Given the description of an element on the screen output the (x, y) to click on. 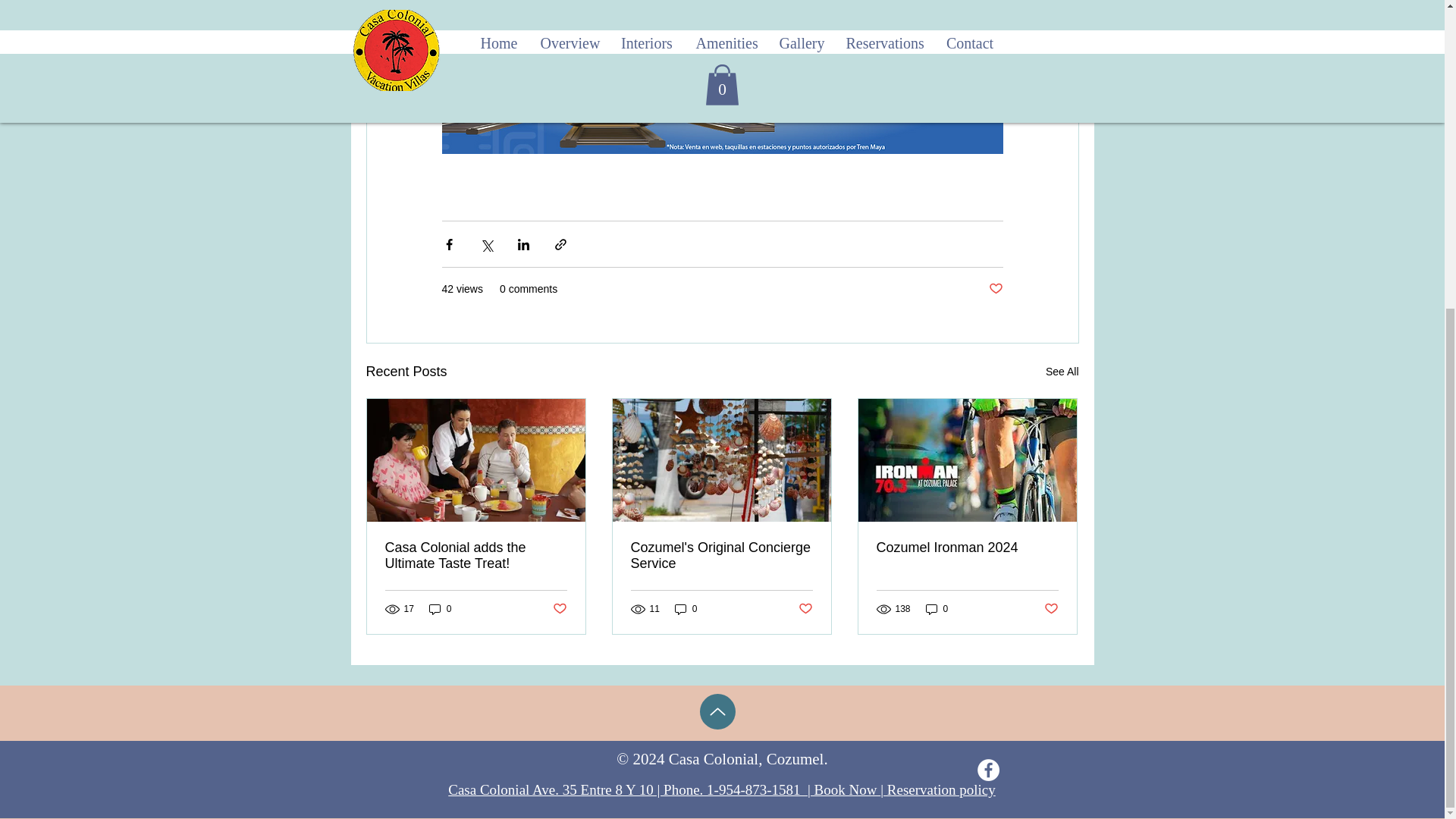
0 (440, 608)
See All (1061, 372)
Cozumel's Original Concierge Service (721, 555)
0 (685, 608)
Post not marked as liked (804, 609)
Casa Colonial adds the Ultimate Taste Treat! (476, 555)
Post not marked as liked (995, 289)
0 (937, 608)
Post not marked as liked (1050, 609)
Cozumel Ironman 2024 (967, 547)
